Given the description of an element on the screen output the (x, y) to click on. 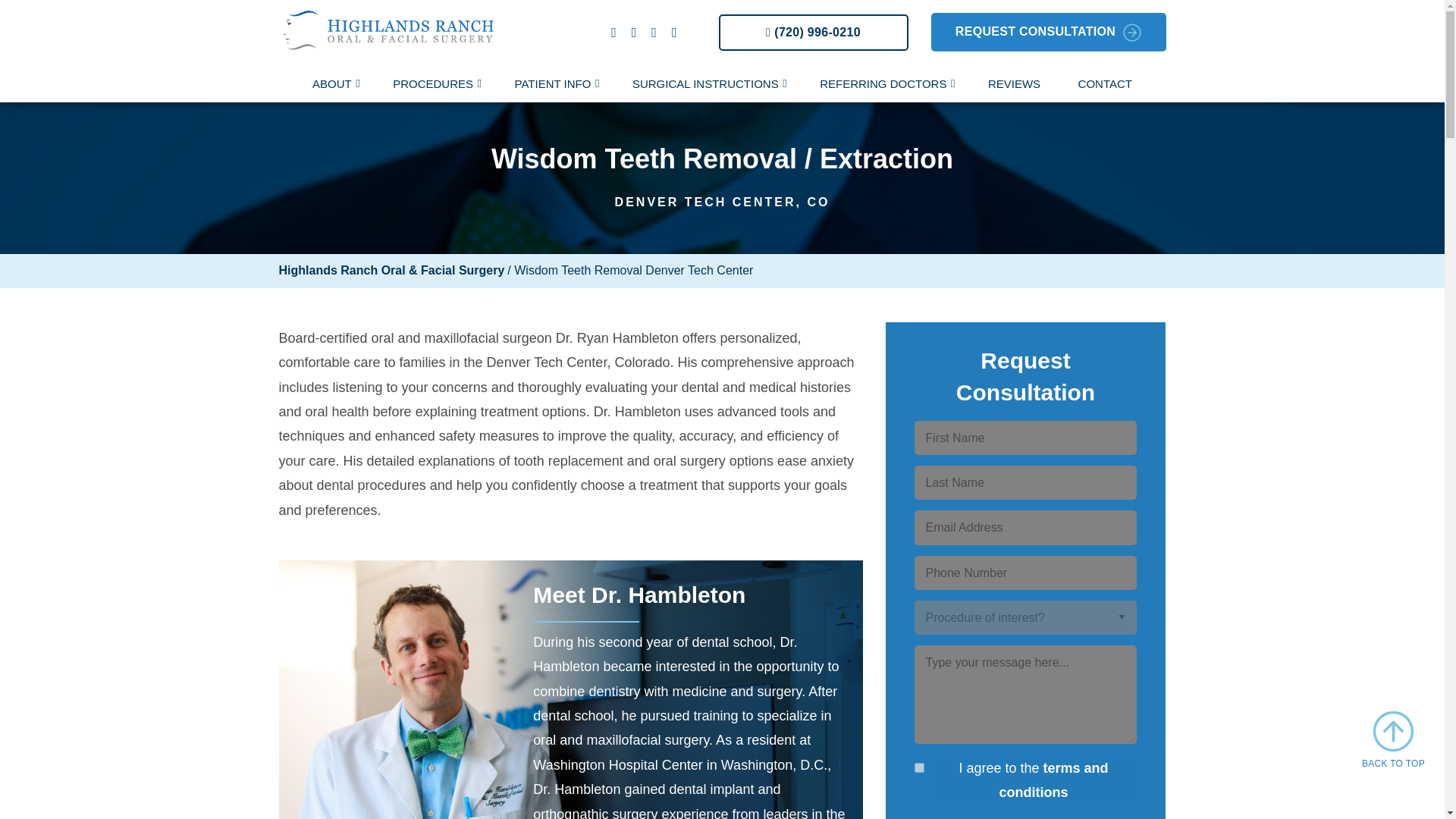
REVIEWS (1014, 84)
ABOUT (334, 84)
PATIENT INFO (555, 84)
REFERRING DOCTORS (884, 84)
PROCEDURES (435, 84)
REQUEST CONSULTATION (1048, 32)
CONTACT (1105, 84)
SURGICAL INSTRUCTIONS (707, 84)
I agree to the terms and conditions (919, 767)
